Given the description of an element on the screen output the (x, y) to click on. 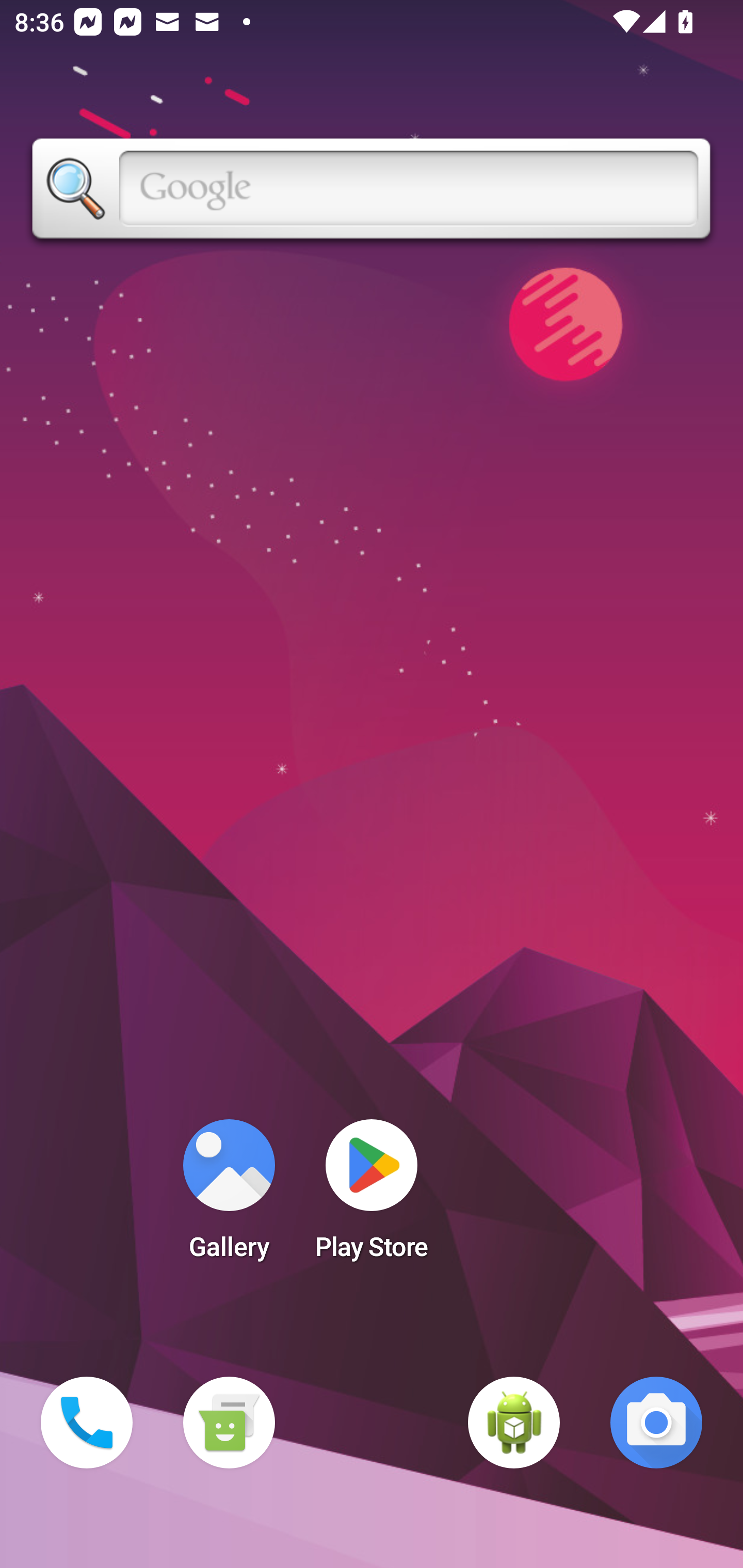
Gallery (228, 1195)
Play Store (371, 1195)
Phone (86, 1422)
Messaging (228, 1422)
WebView Browser Tester (513, 1422)
Camera (656, 1422)
